Given the description of an element on the screen output the (x, y) to click on. 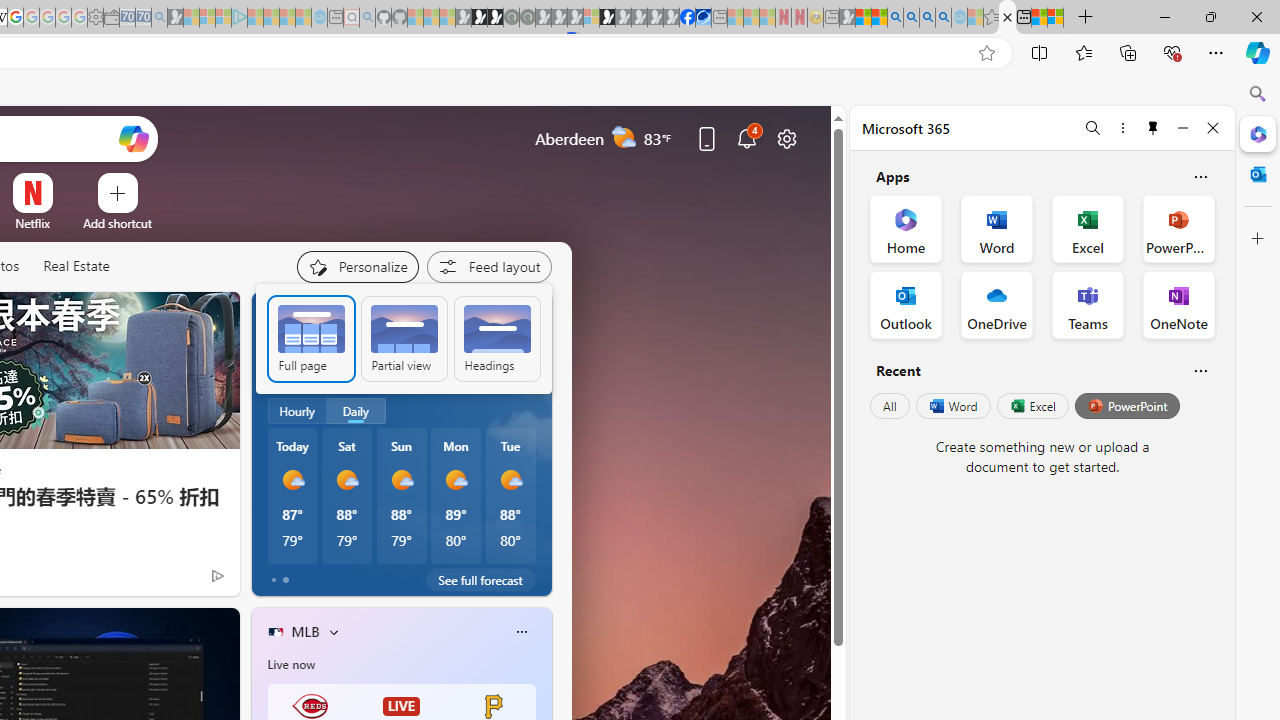
OneDrive Office App (996, 304)
Is this helpful? (1200, 370)
Partly sunny (289, 368)
Excel Office App (1087, 228)
Class: icon-img (521, 632)
Close Microsoft 365 pane (1258, 133)
github - Search - Sleeping (367, 17)
